Given the description of an element on the screen output the (x, y) to click on. 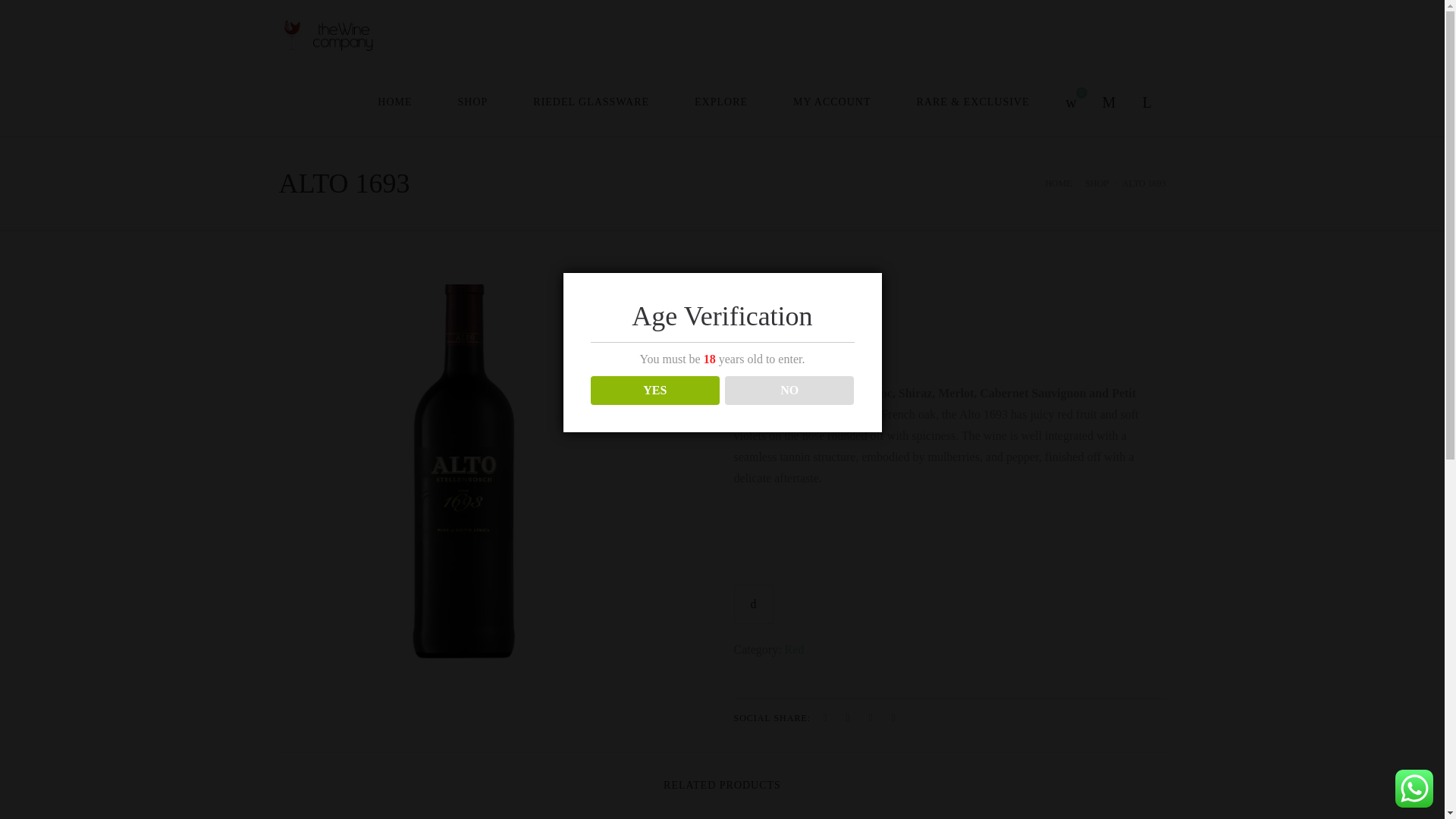
Home (1058, 183)
Add to Wishlist (753, 604)
Share this post via Email (893, 717)
Share this post on Pinterest (847, 717)
Shop (1096, 183)
SHOP (472, 101)
HOME (394, 101)
Share this post on WhatsApp (870, 717)
Share this post on Facebook (824, 717)
RIEDEL GLASSWARE (591, 101)
ALTO 1693 (472, 476)
